Given the description of an element on the screen output the (x, y) to click on. 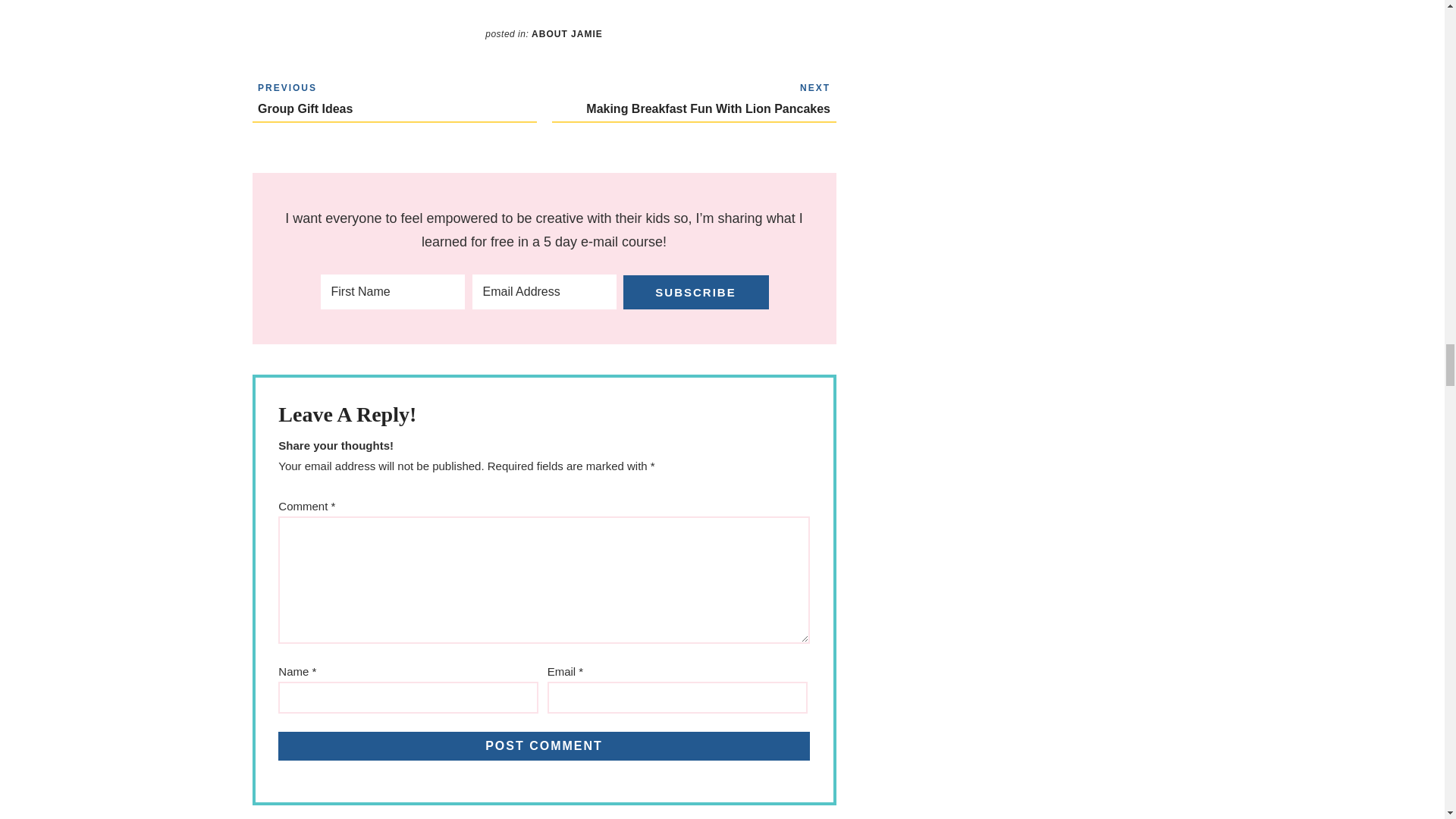
Post Comment (543, 746)
